Given the description of an element on the screen output the (x, y) to click on. 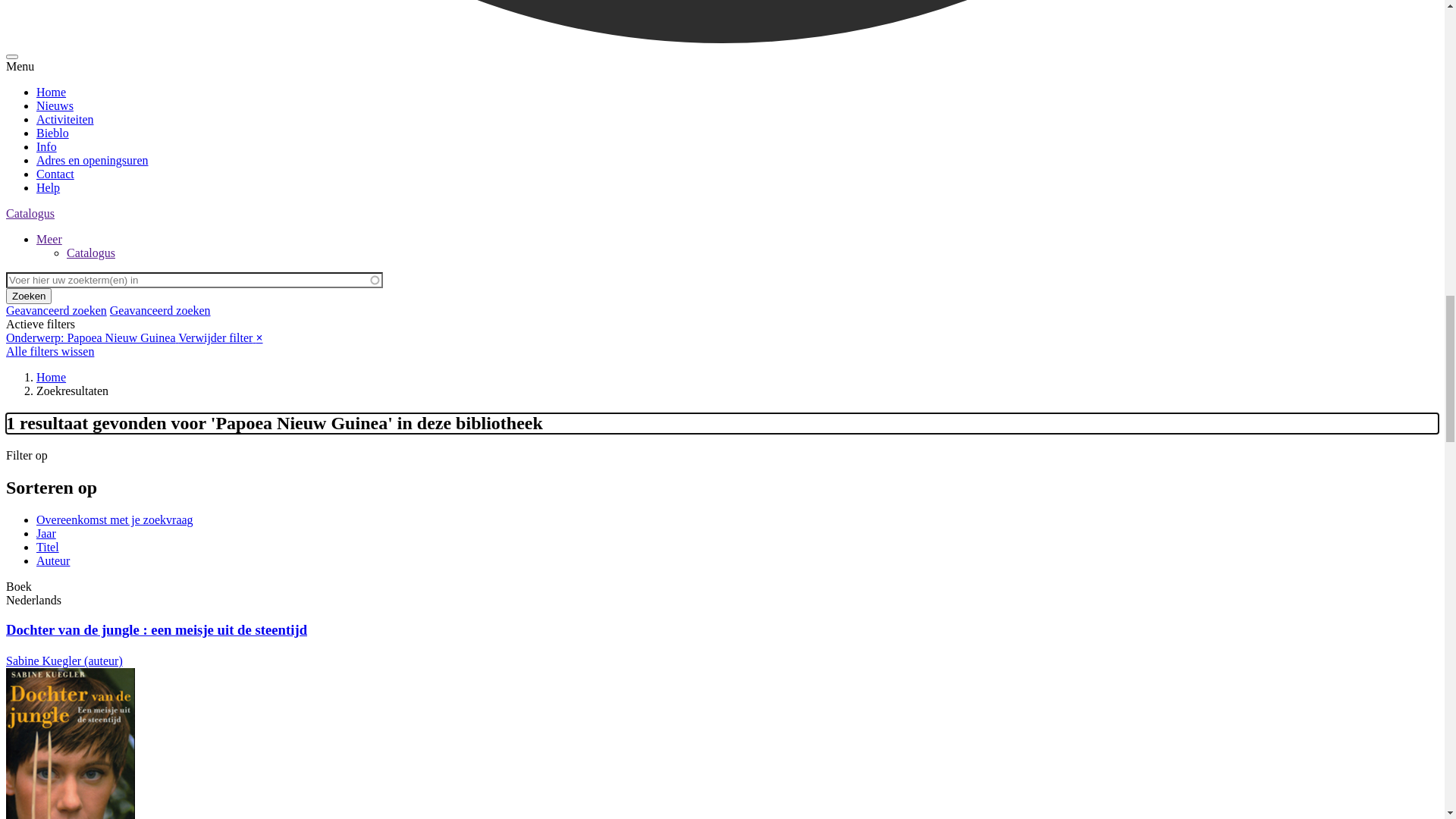
Help Element type: text (47, 45)
Contact Element type: text (55, 31)
Overslaan en naar zoeken gaan Element type: text (6, 12)
Adres en openingsuren Element type: text (92, 18)
Nu gesloten Element type: text (35, 151)
Aanmelden bij Mijn Bibliotheek Element type: text (84, 192)
image/svg+xml Element type: text (45, 137)
